Given the description of an element on the screen output the (x, y) to click on. 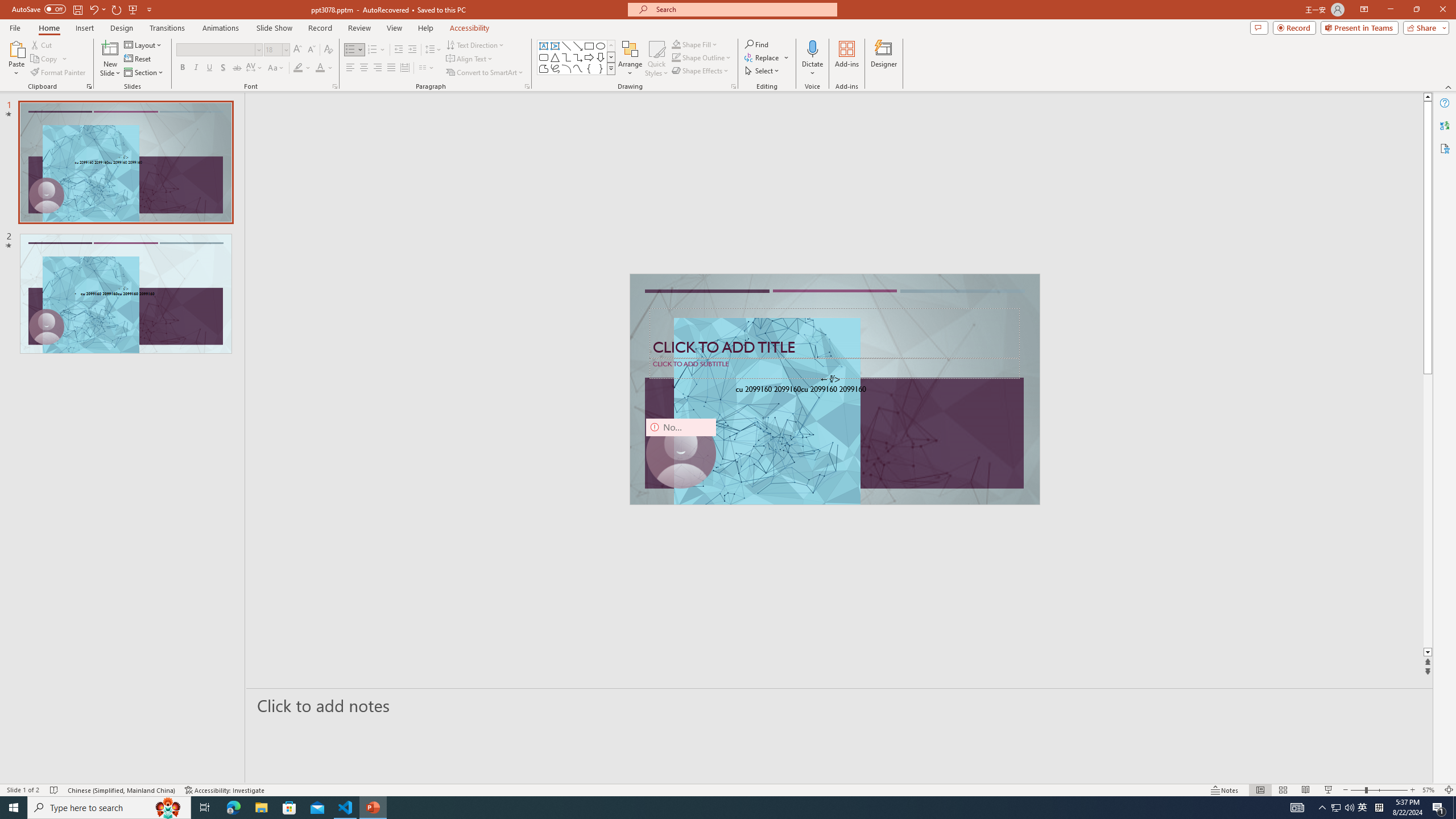
Increase Indent (412, 49)
Shapes (611, 68)
Shape Fill Dark Green, Accent 2 (675, 44)
Text Box (543, 45)
Select (762, 69)
Italic (195, 67)
Center (363, 67)
Copy (49, 58)
Dictate (812, 48)
Columns (426, 67)
Dictate (812, 58)
